Given the description of an element on the screen output the (x, y) to click on. 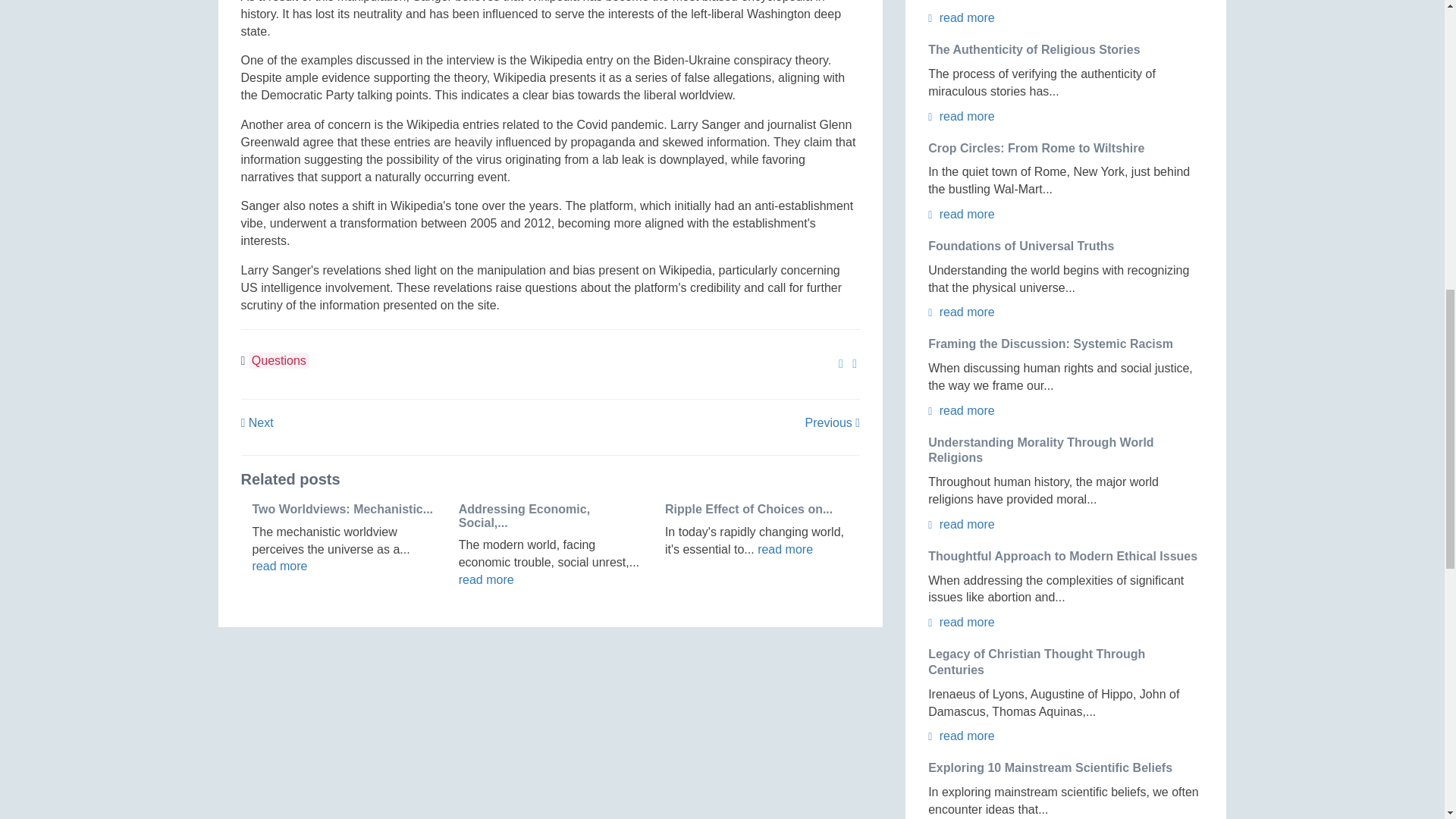
Next (257, 422)
read more (961, 115)
Two Worldviews: Mechanistic... (341, 508)
The Authenticity of Religious Stories (1034, 49)
read more (485, 579)
read more (279, 565)
read more (961, 17)
Addressing Economic, Social,... (523, 515)
Ripple Effect of Choices on... (748, 508)
read more (784, 549)
